Given the description of an element on the screen output the (x, y) to click on. 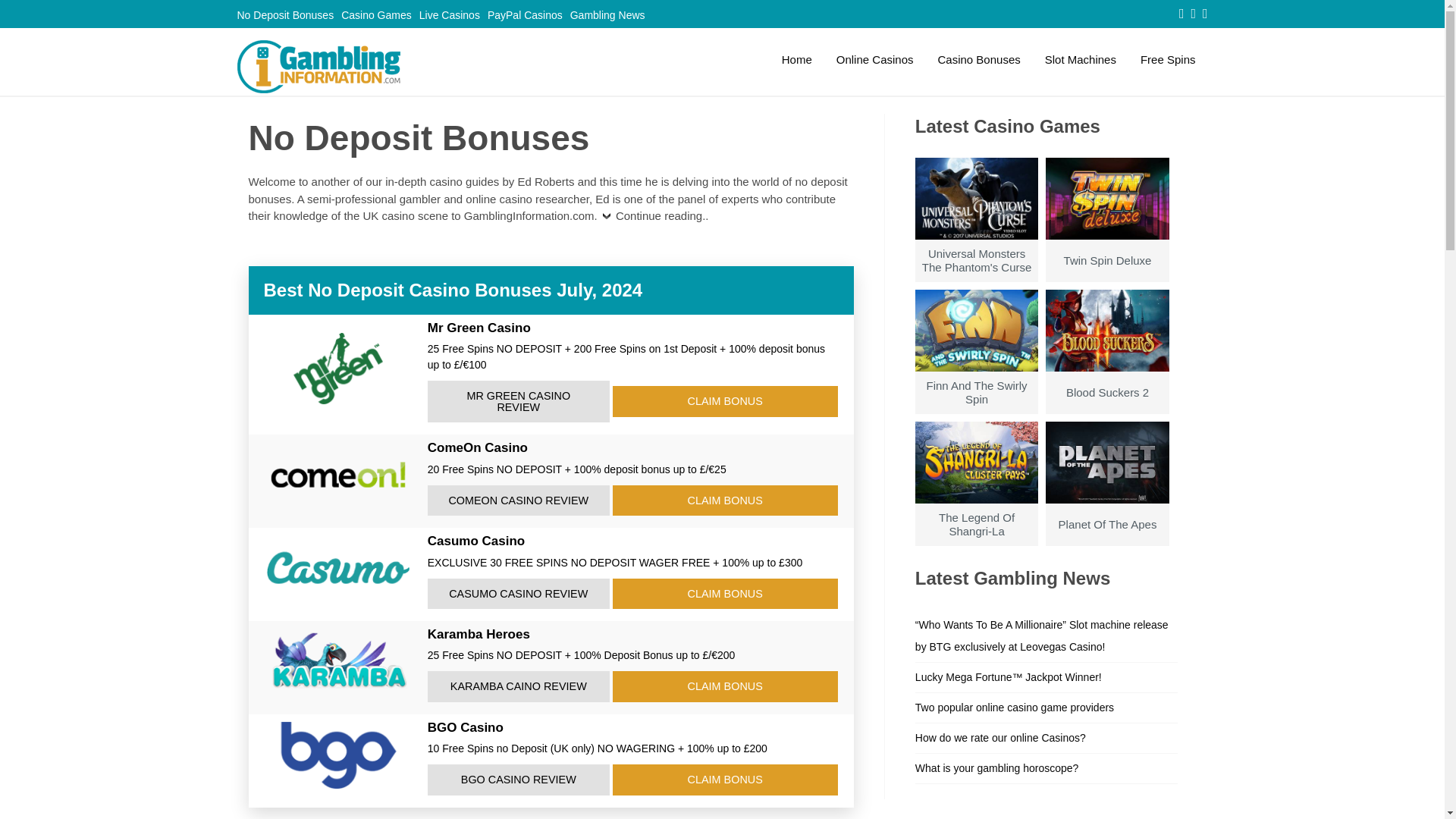
No Deposit Bonuses (284, 14)
Gambling News (603, 14)
CLAIM BONUS (725, 500)
CLAIM BONUS (725, 400)
Planet of the Apes (1107, 500)
Home (797, 59)
Live Casinos (446, 14)
Blood suckers 2 (1107, 368)
CLAIM BONUS (725, 593)
Slot Machines (1080, 59)
Finn and the swirly spin (976, 368)
Finn And The Swirly Spin (976, 368)
Universal Monsters The Phantom'S Curse (976, 236)
KARAMBA CAINO REVIEW (519, 685)
How do we rate our online Casinos? (1000, 737)
